Given the description of an element on the screen output the (x, y) to click on. 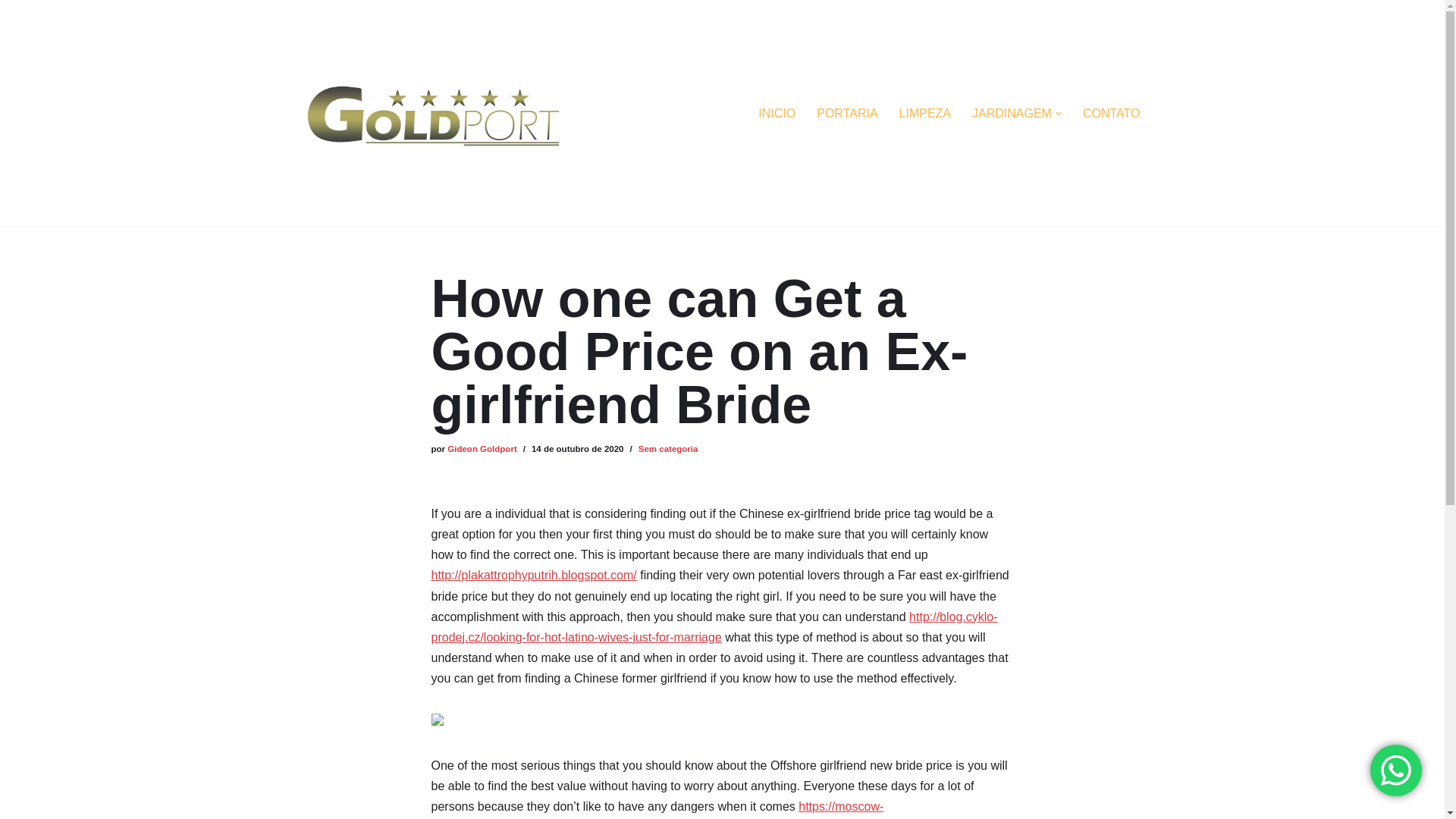
LIMPEZA (924, 113)
CONTATO (1111, 113)
INICIO (776, 113)
PORTARIA (846, 113)
Sem categoria (668, 448)
JARDINAGEM (1011, 113)
Posts de Gideon Goldport (481, 448)
Gideon Goldport (481, 448)
